Given the description of an element on the screen output the (x, y) to click on. 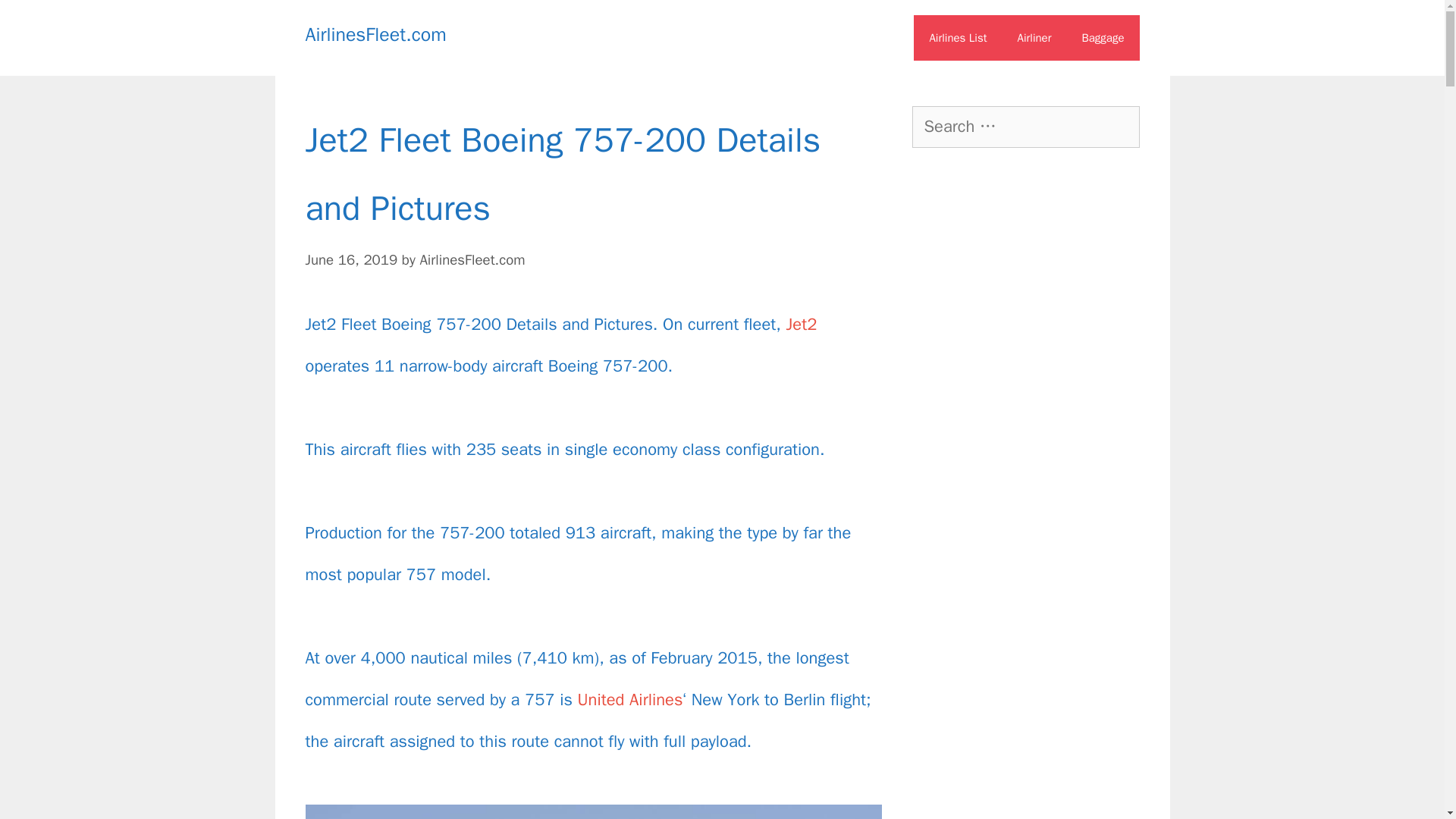
AirlinesFleet.com (374, 33)
AirlinesFleet.com (471, 259)
View all posts by AirlinesFleet.com (471, 259)
Jet2 (801, 323)
Search for: (1024, 127)
Airlines List (957, 37)
United Airlines (630, 699)
Baggage (1101, 37)
Airliner (1035, 37)
